Given the description of an element on the screen output the (x, y) to click on. 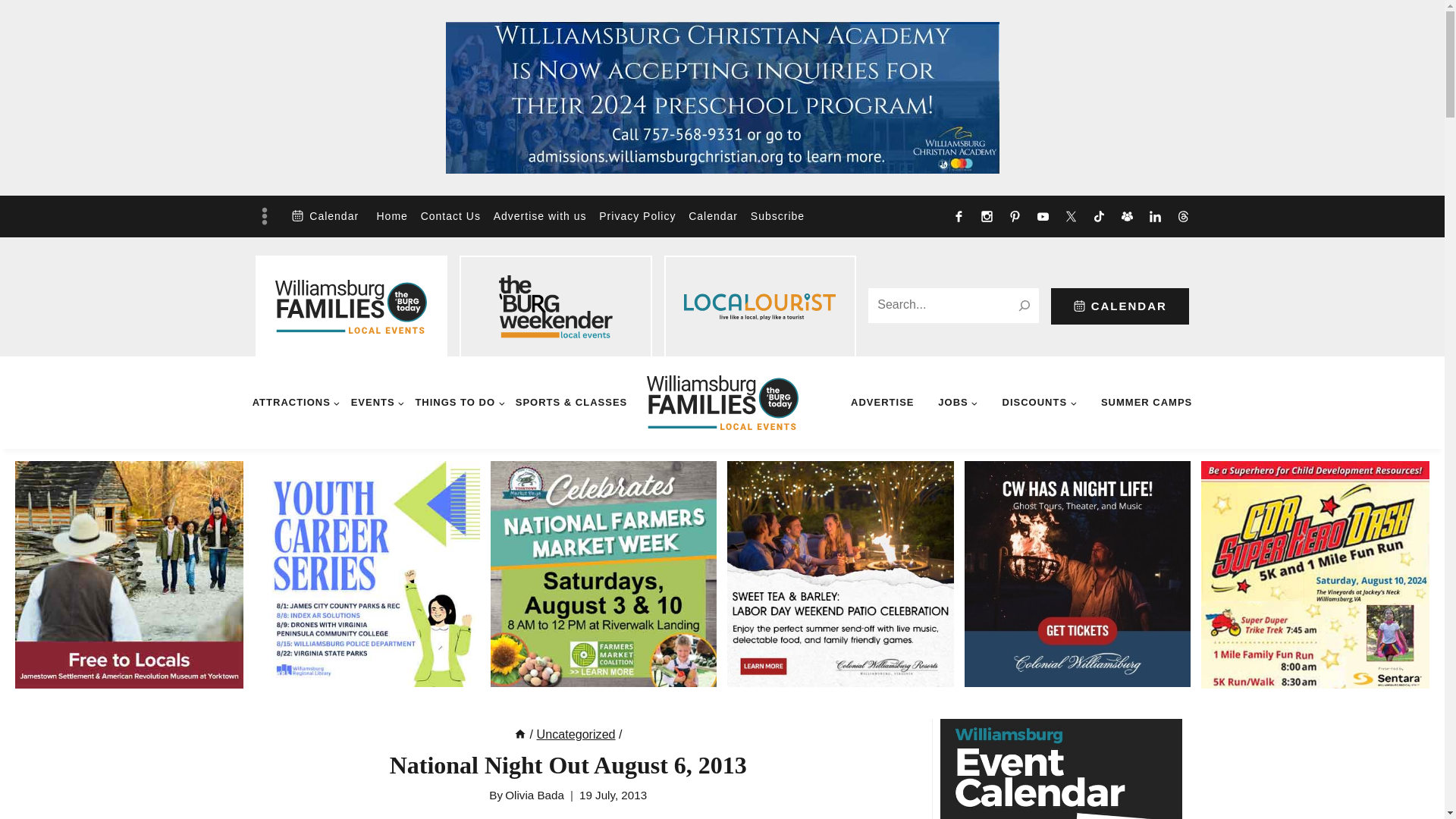
ATTRACTIONS (296, 402)
Advertise with us (539, 216)
Calendar (325, 215)
THINGS TO DO (459, 402)
Calendar (713, 216)
Contact Us (449, 216)
Privacy Policy (637, 216)
Home (391, 216)
CALENDAR (1120, 306)
Home (519, 734)
Subscribe (777, 216)
EVENTS (376, 402)
